Given the description of an element on the screen output the (x, y) to click on. 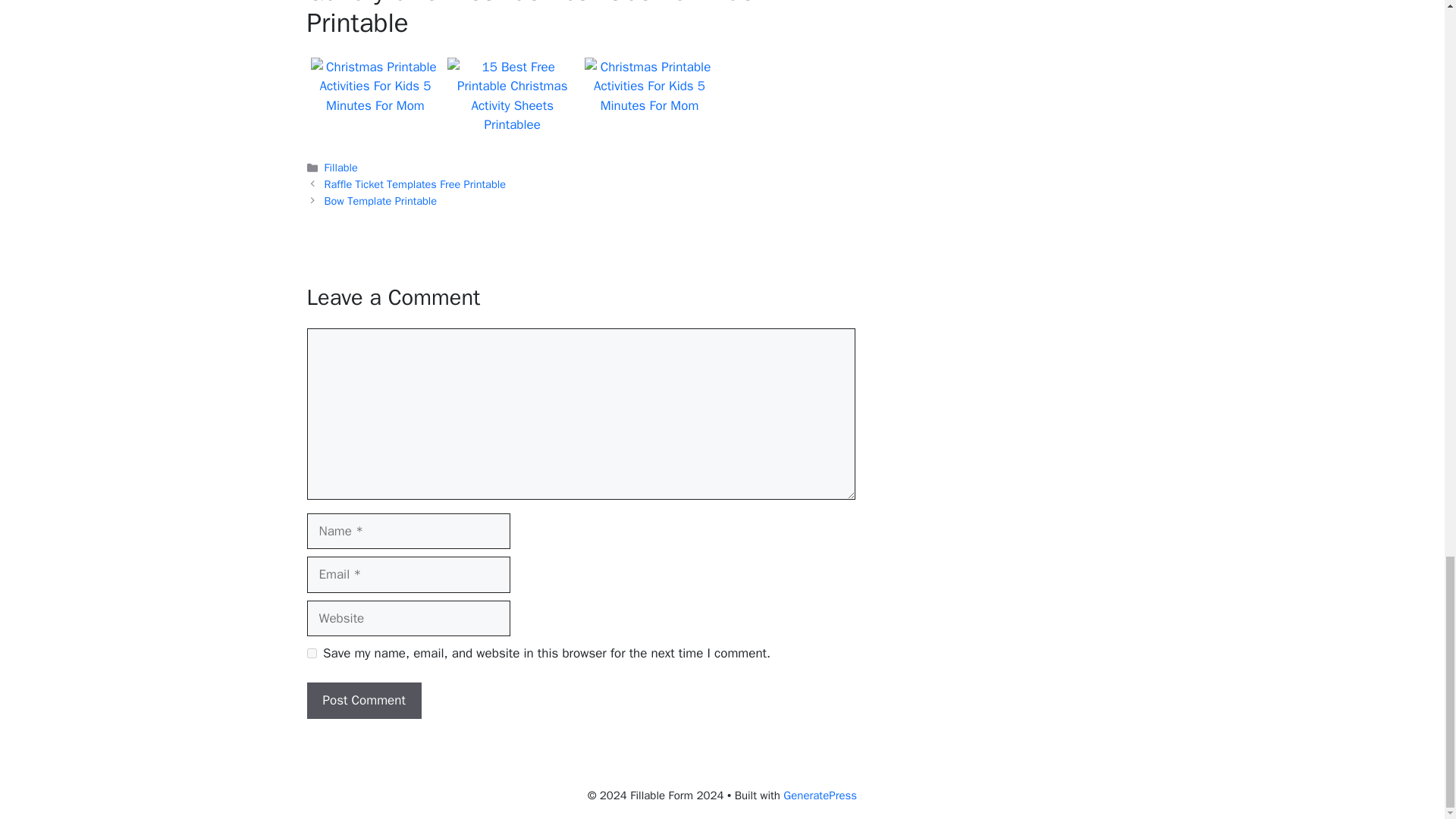
Raffle Ticket Templates Free Printable (414, 183)
Post Comment (362, 700)
GeneratePress (820, 795)
Bow Template Printable (380, 201)
Fillable (341, 167)
yes (310, 653)
Post Comment (362, 700)
